Given the description of an element on the screen output the (x, y) to click on. 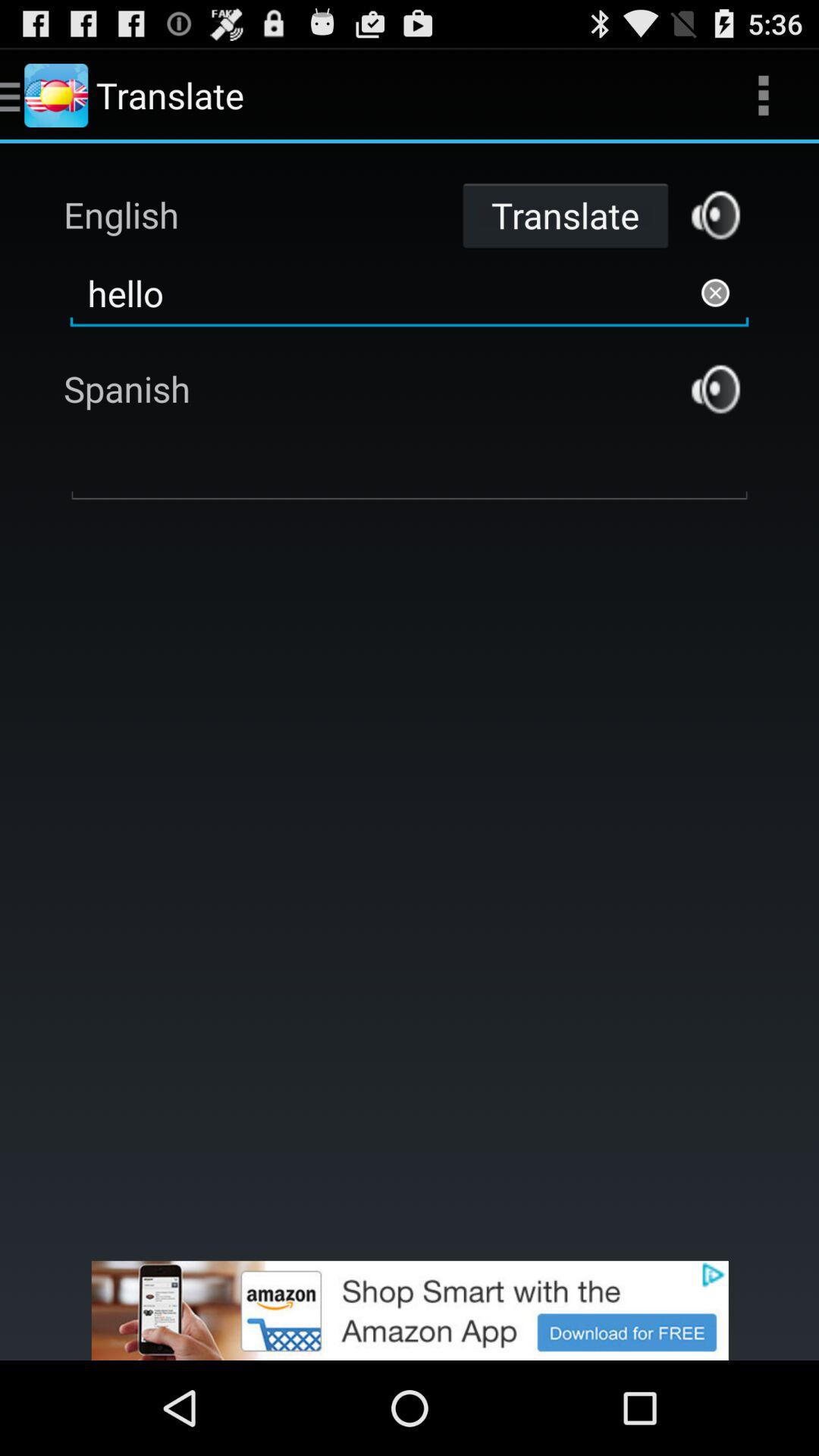
play spanish translation (715, 388)
